Given the description of an element on the screen output the (x, y) to click on. 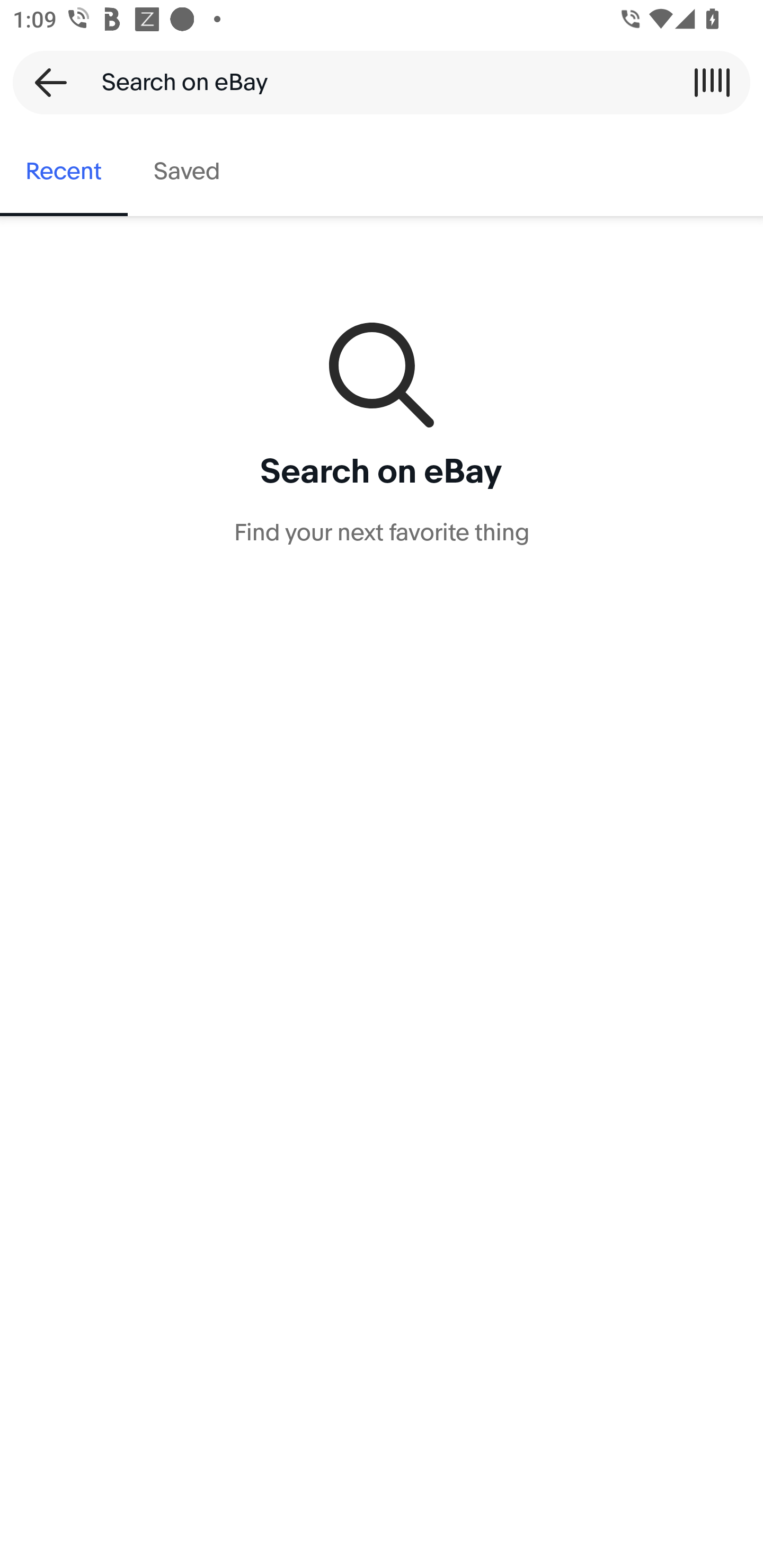
Back (44, 82)
Scan a barcode (711, 82)
Search on eBay (375, 82)
Saved, tab 2 of 2 Saved (186, 171)
